Given the description of an element on the screen output the (x, y) to click on. 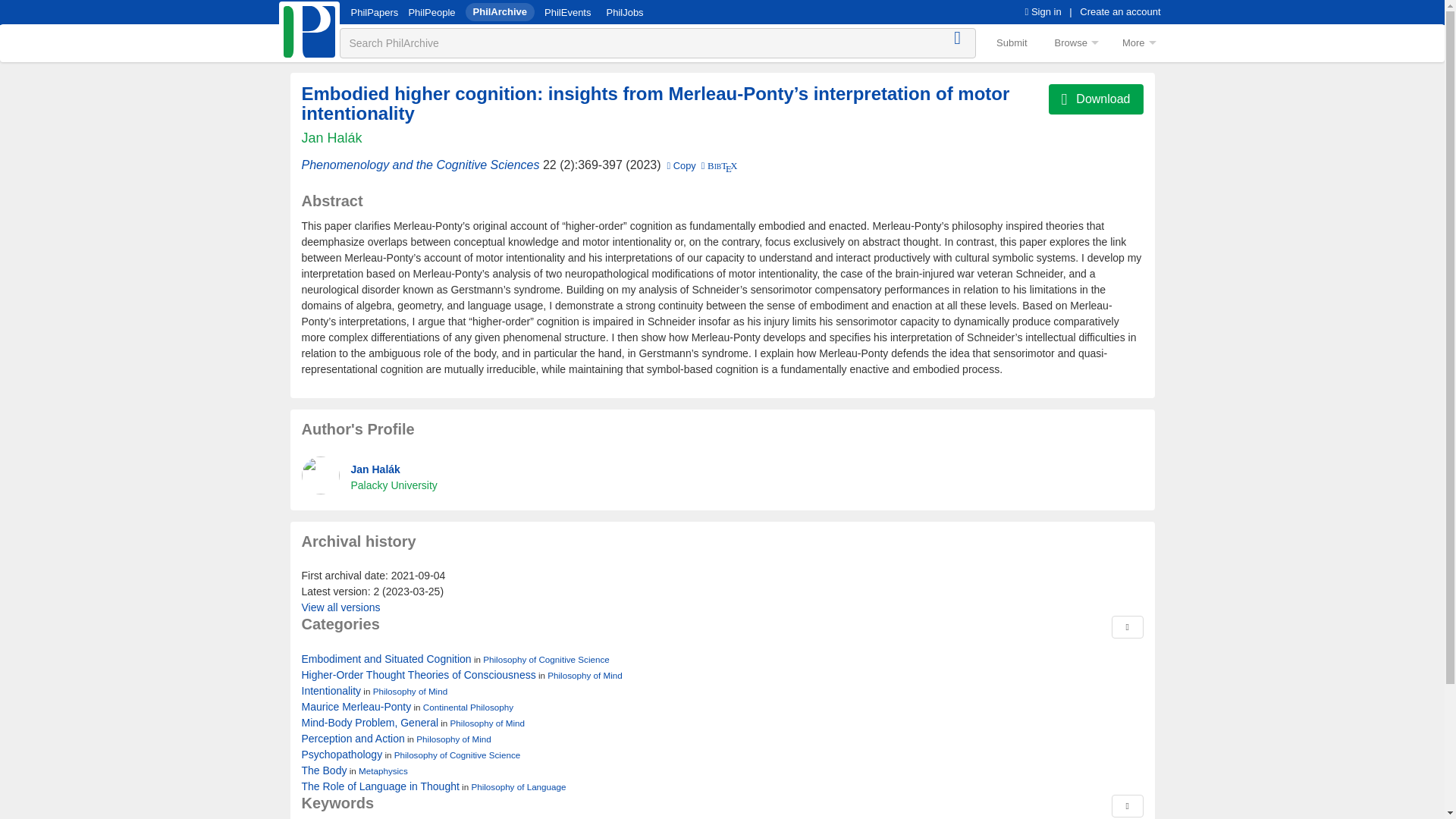
PhilArchive home (309, 31)
PhilEvents (567, 12)
Sign in (1043, 11)
PhilPeople (430, 12)
Copy text citation to clipboard (680, 165)
Create an account (1120, 11)
Browse (1074, 42)
PhilJobs (624, 12)
Copy BibTeX to clipboard (717, 165)
Submit (1011, 42)
